Given the description of an element on the screen output the (x, y) to click on. 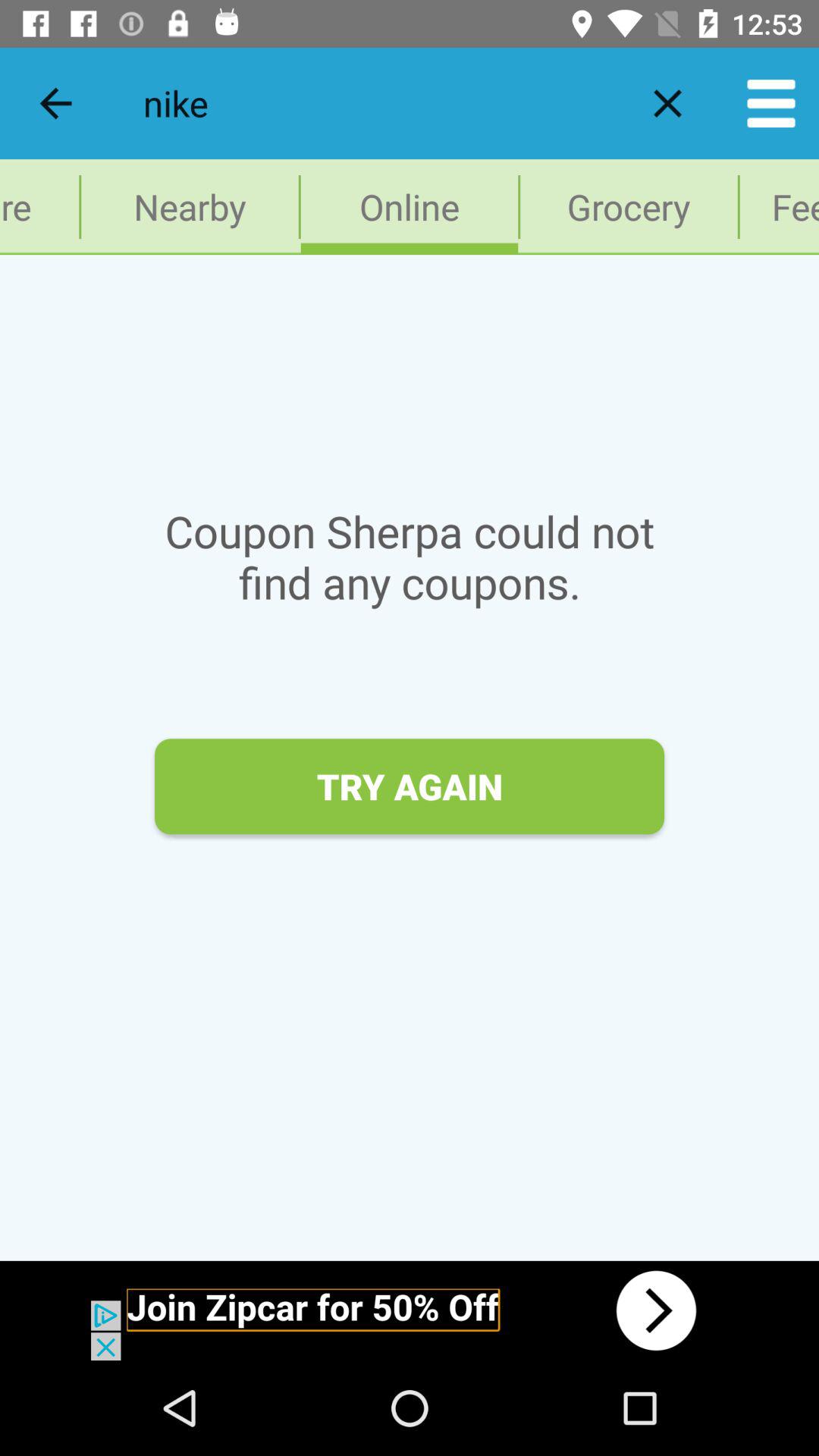
advertisement bar (409, 1310)
